Given the description of an element on the screen output the (x, y) to click on. 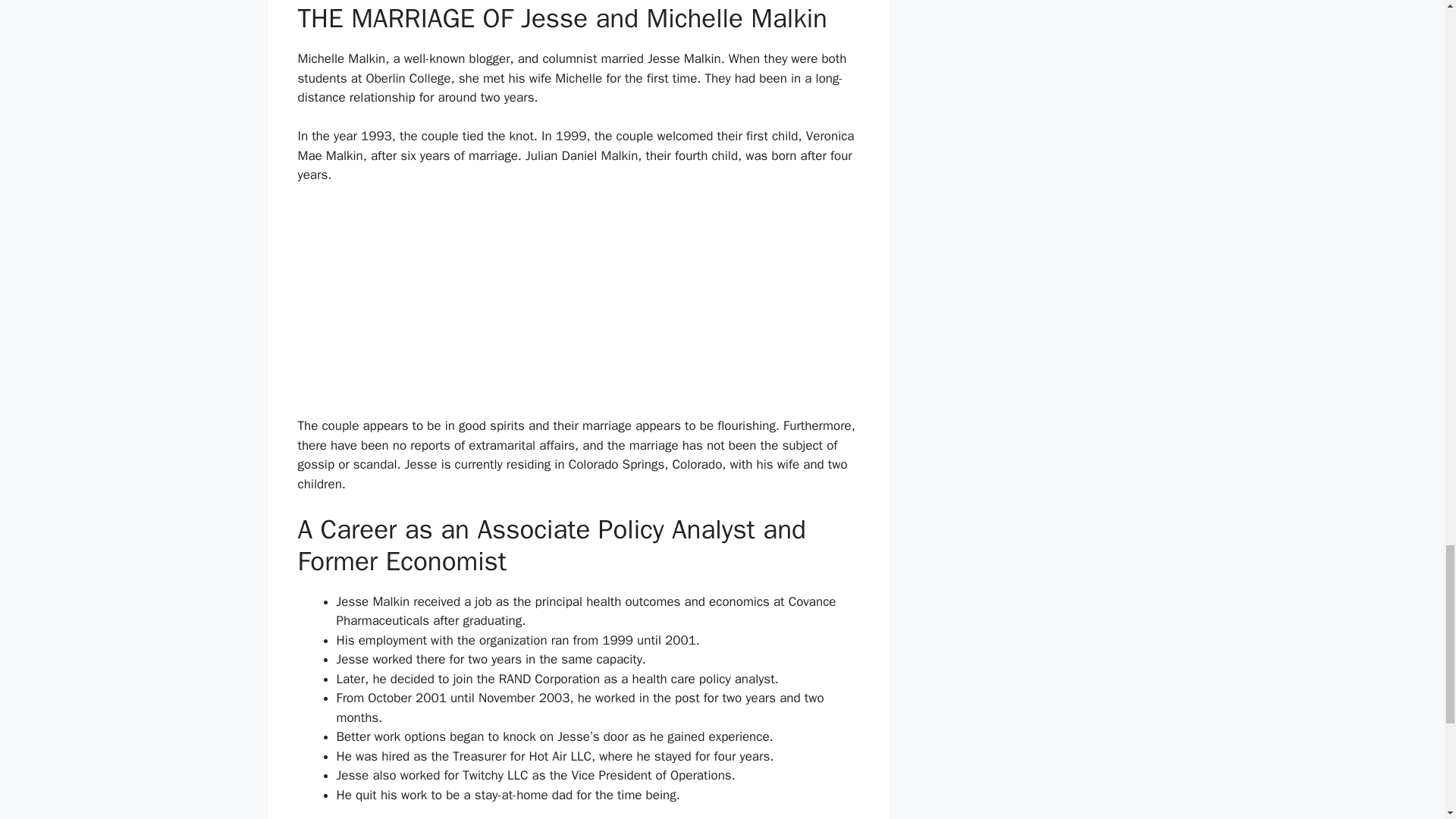
Advertisement (578, 309)
